Given the description of an element on the screen output the (x, y) to click on. 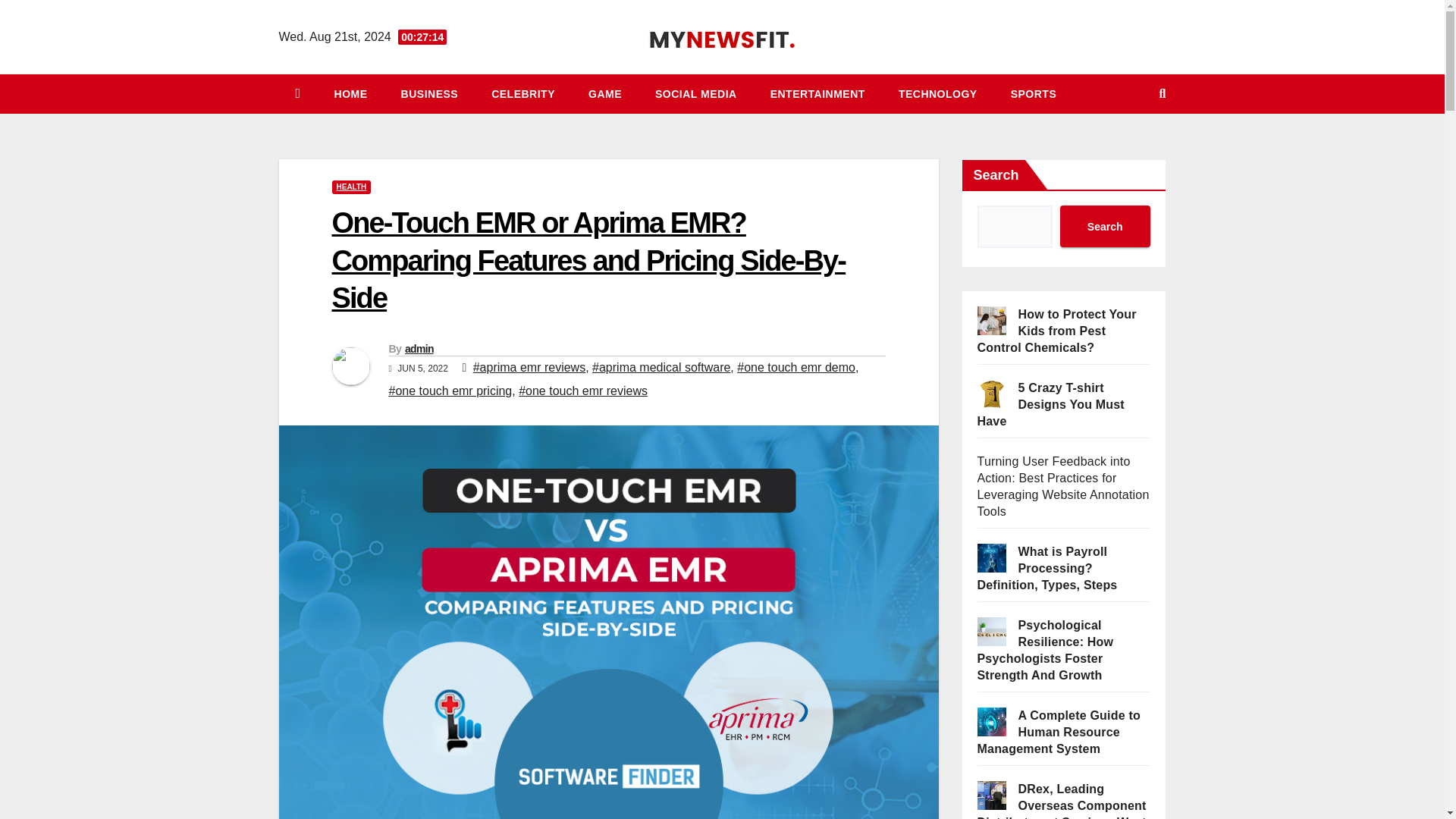
Technology (938, 93)
Business (430, 93)
Entertainment (818, 93)
HEALTH (351, 187)
BUSINESS (430, 93)
Home (350, 93)
Celebrity (523, 93)
HOME (350, 93)
